Given the description of an element on the screen output the (x, y) to click on. 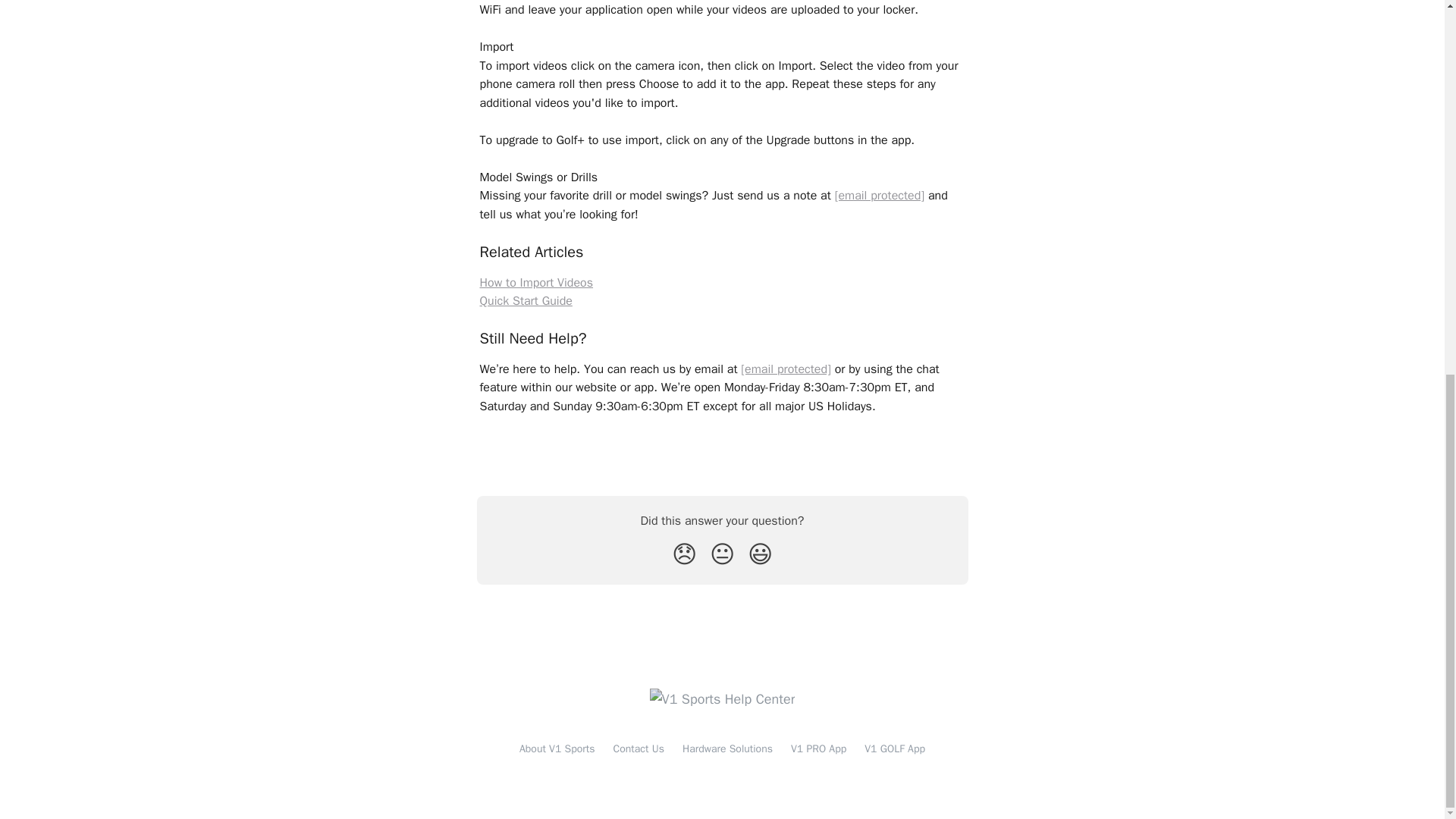
Smiley (760, 554)
Hardware Solutions (727, 748)
Disappointed (684, 554)
V1 PRO App (817, 748)
About V1 Sports (557, 748)
Quick Start Guide (525, 300)
How to Import Videos (535, 282)
V1 GOLF App (894, 748)
Contact Us (637, 748)
Neutral (722, 554)
